Given the description of an element on the screen output the (x, y) to click on. 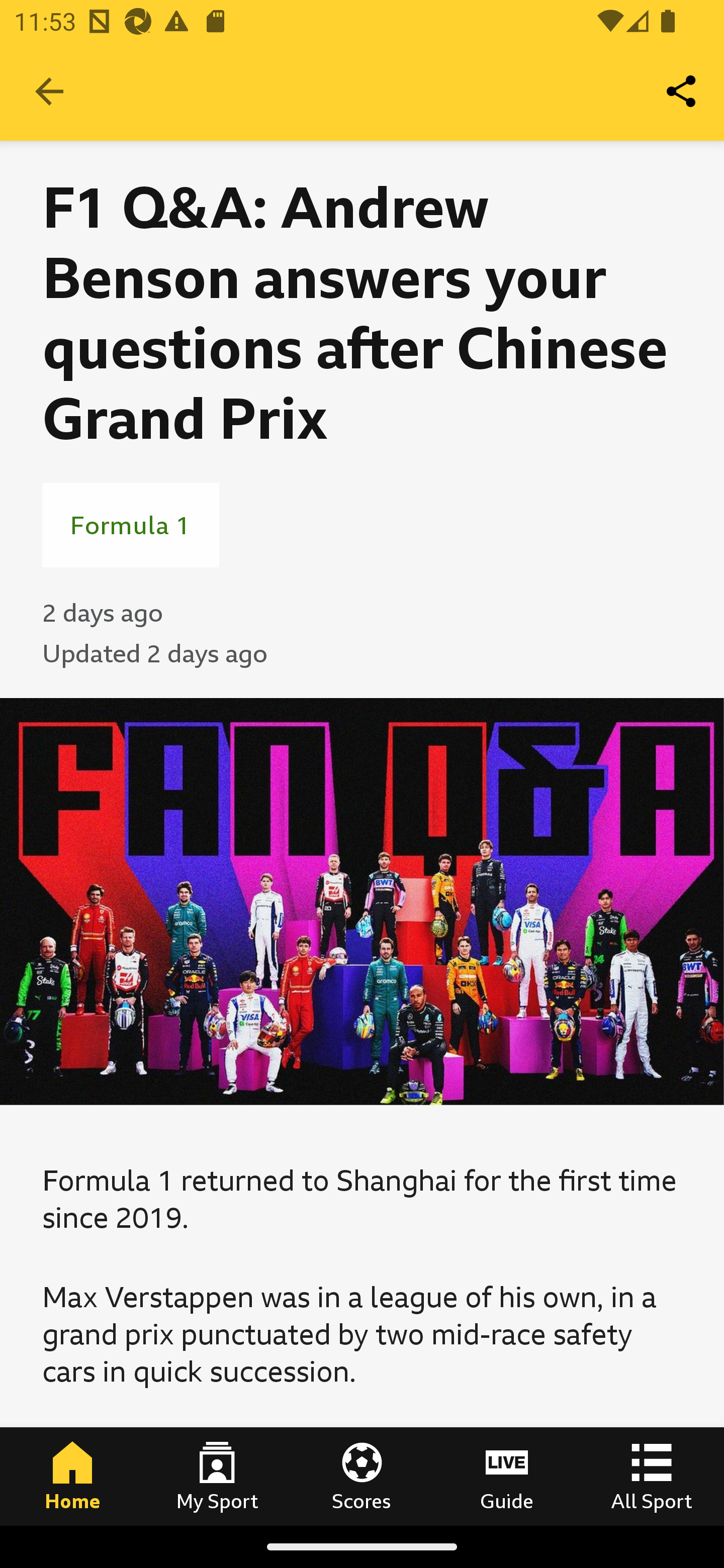
Navigate up (49, 91)
Share (681, 90)
Formula 1 (130, 524)
My Sport (216, 1475)
Scores (361, 1475)
Guide (506, 1475)
All Sport (651, 1475)
